Given the description of an element on the screen output the (x, y) to click on. 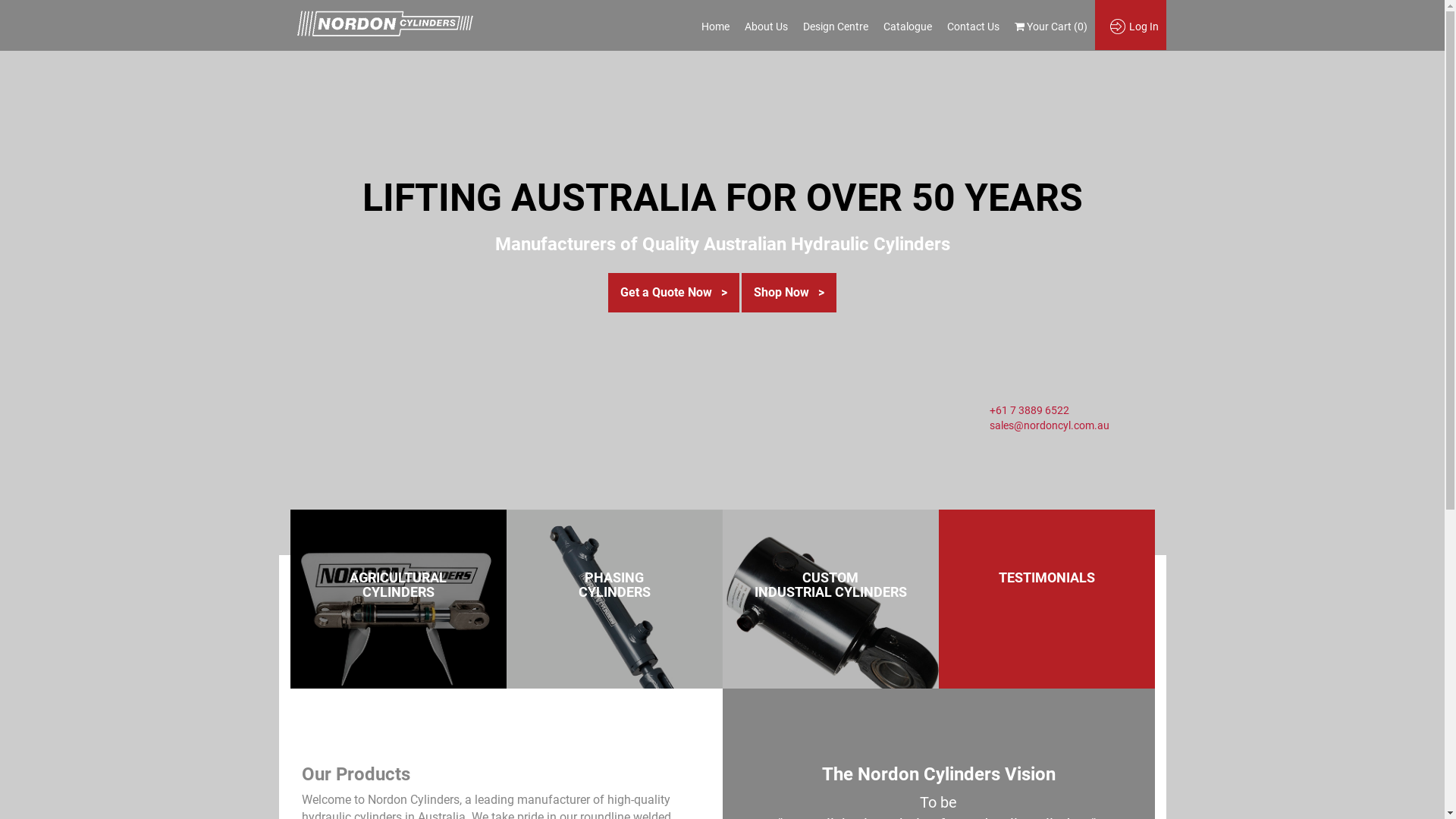
Log In Element type: text (1138, 26)
Get a Quote Now   > Element type: text (673, 292)
Your Cart (0) Element type: text (1051, 26)
Catalogue Element type: text (906, 26)
sales@nordoncyl.com.au Element type: text (1048, 425)
Home Element type: hover (383, 24)
+61 7 3889 6522 Element type: text (1028, 410)
Skip to main content Element type: text (0, 48)
AGRICULTURAL
CYLINDERS Element type: text (397, 584)
Shop Now   > Element type: text (788, 292)
Design Centre Element type: text (834, 26)
Contact Us Element type: text (972, 26)
About Us Element type: text (766, 26)
PHASING
CYLINDERS Element type: text (613, 584)
Home Element type: text (714, 26)
CUSTOM
INDUSTRIAL CYLINDERS Element type: text (829, 584)
